Given the description of an element on the screen output the (x, y) to click on. 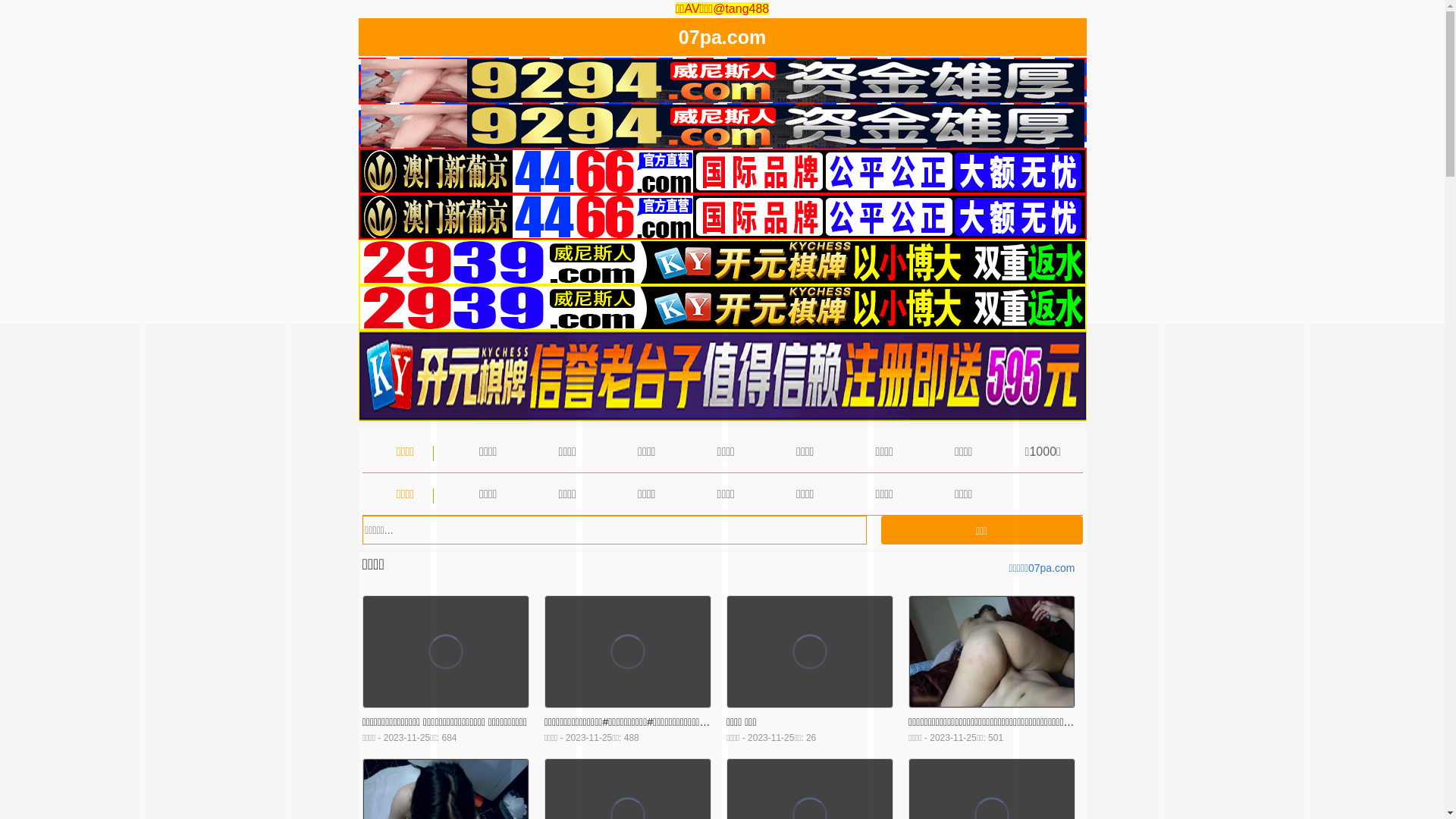
07pa.com Element type: text (721, 40)
